Given the description of an element on the screen output the (x, y) to click on. 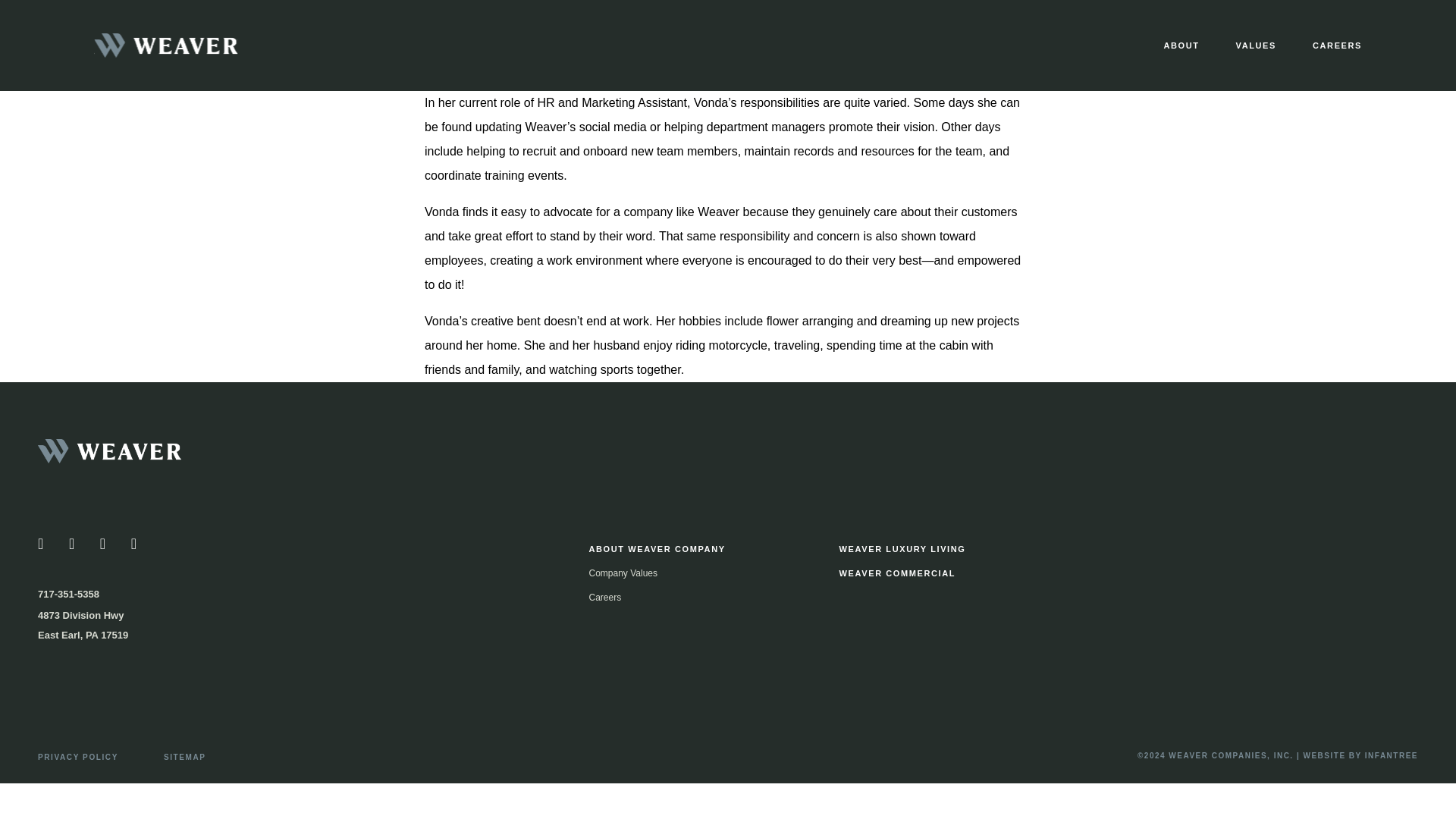
WEAVER COMMERCIAL (898, 573)
ABOUT (1181, 45)
WEAVER LUXURY LIVING (903, 548)
CAREERS (1337, 45)
ABOUT WEAVER COMPANY (657, 548)
SITEMAP (184, 756)
717-351-5358 (68, 593)
PRIVACY POLICY (77, 756)
VALUES (1256, 45)
Weaver Companies, Inc. (150, 454)
INFANTREE (1391, 755)
Careers (605, 597)
Company Values (623, 573)
